Given the description of an element on the screen output the (x, y) to click on. 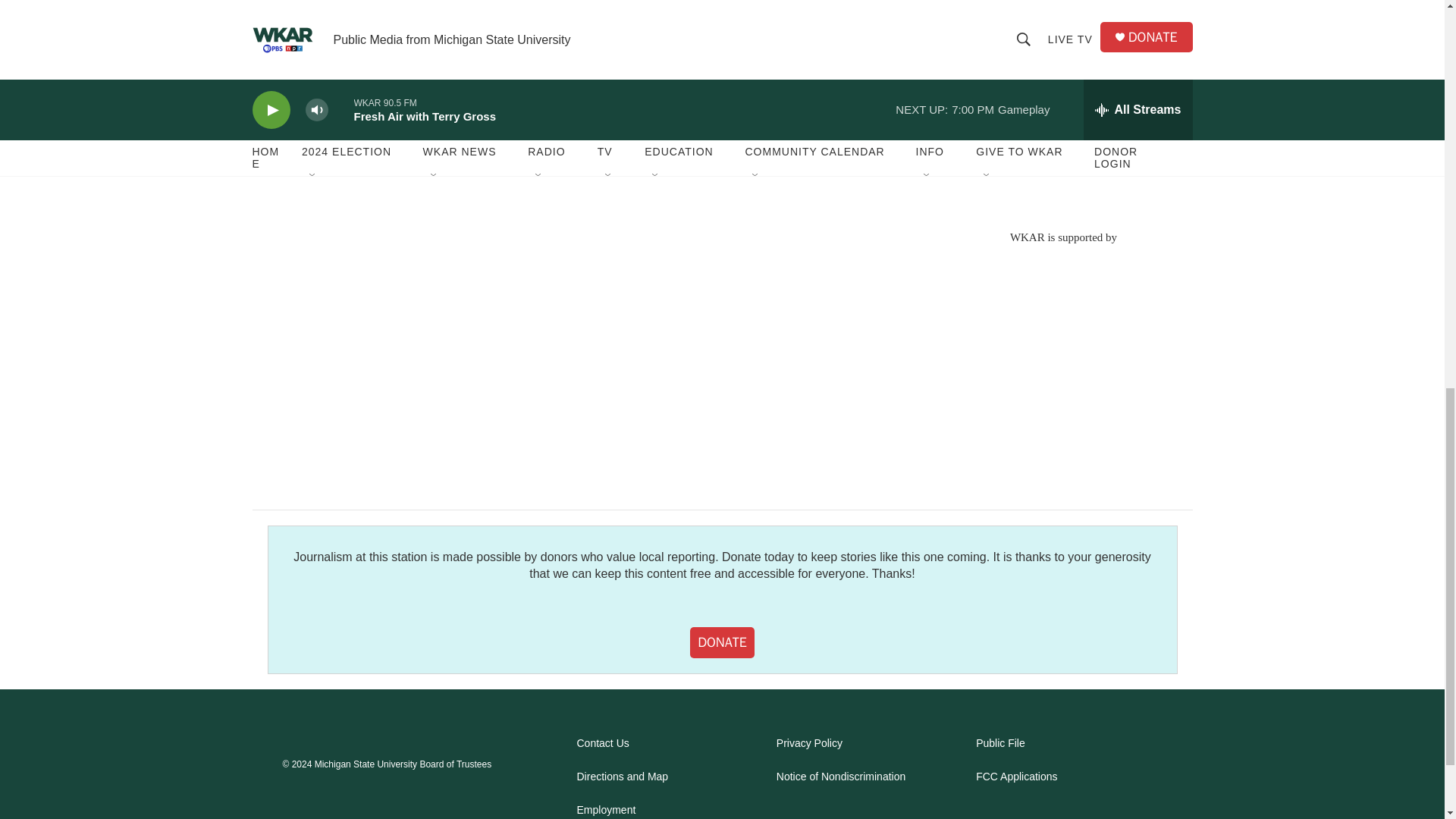
3rd party ad content (1062, 105)
3rd party ad content (1062, 353)
